Given the description of an element on the screen output the (x, y) to click on. 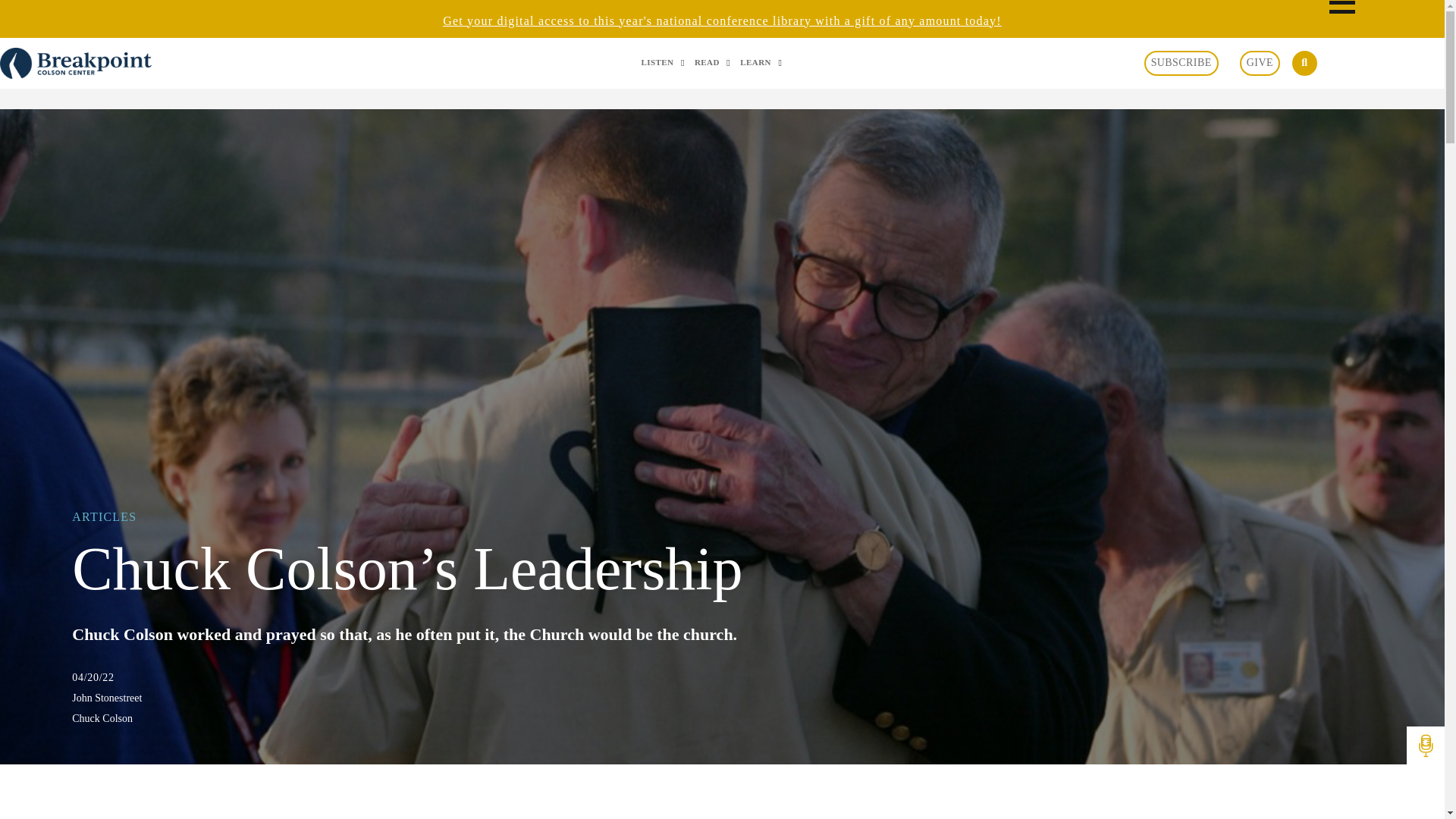
Posts by Chuck Colson (722, 718)
Posts by John Stonestreet (722, 698)
